Given the description of an element on the screen output the (x, y) to click on. 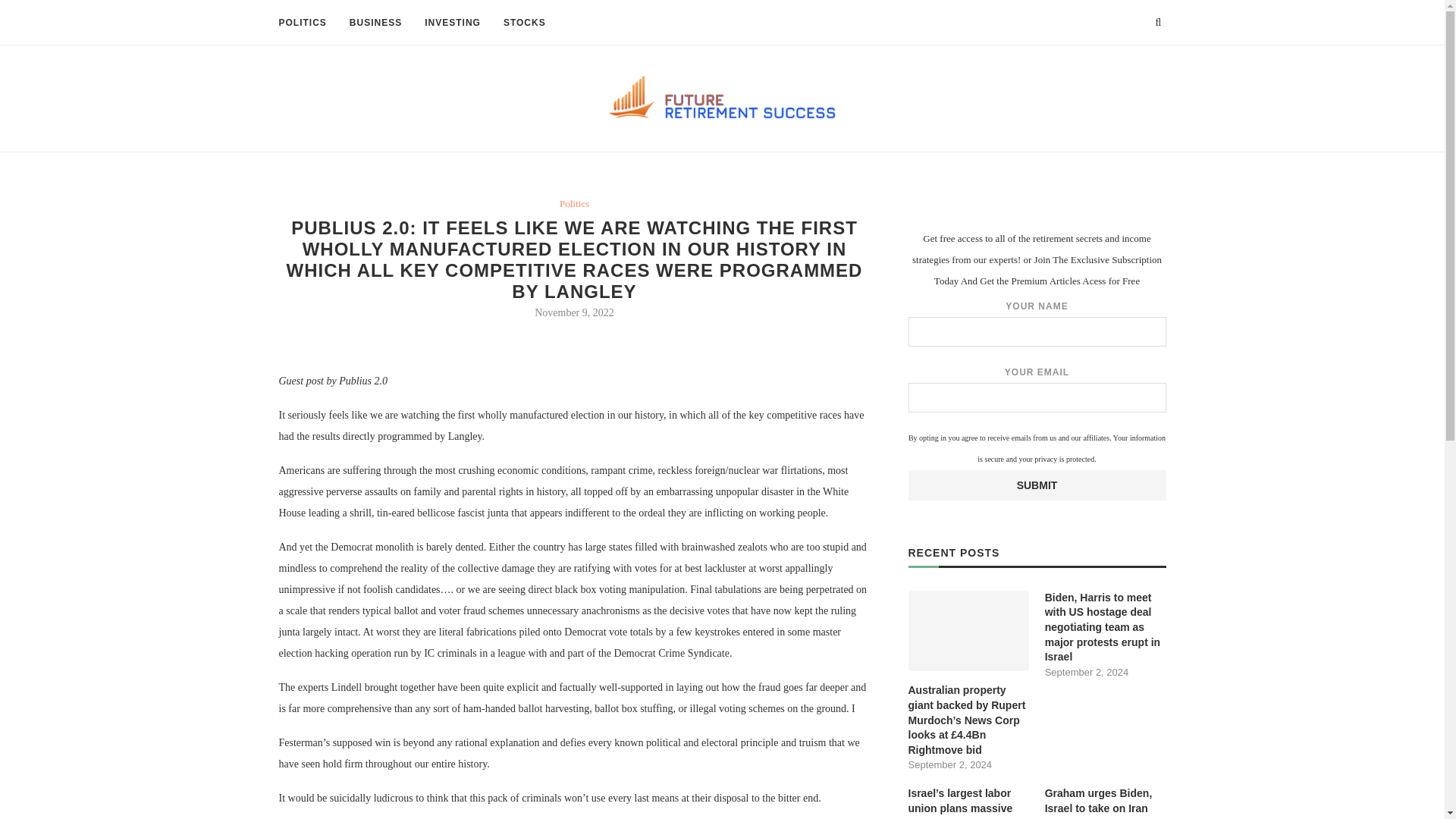
STOCKS (524, 22)
INVESTING (452, 22)
POLITICS (302, 22)
BUSINESS (375, 22)
Politics (574, 203)
Submit (1037, 485)
